Given the description of an element on the screen output the (x, y) to click on. 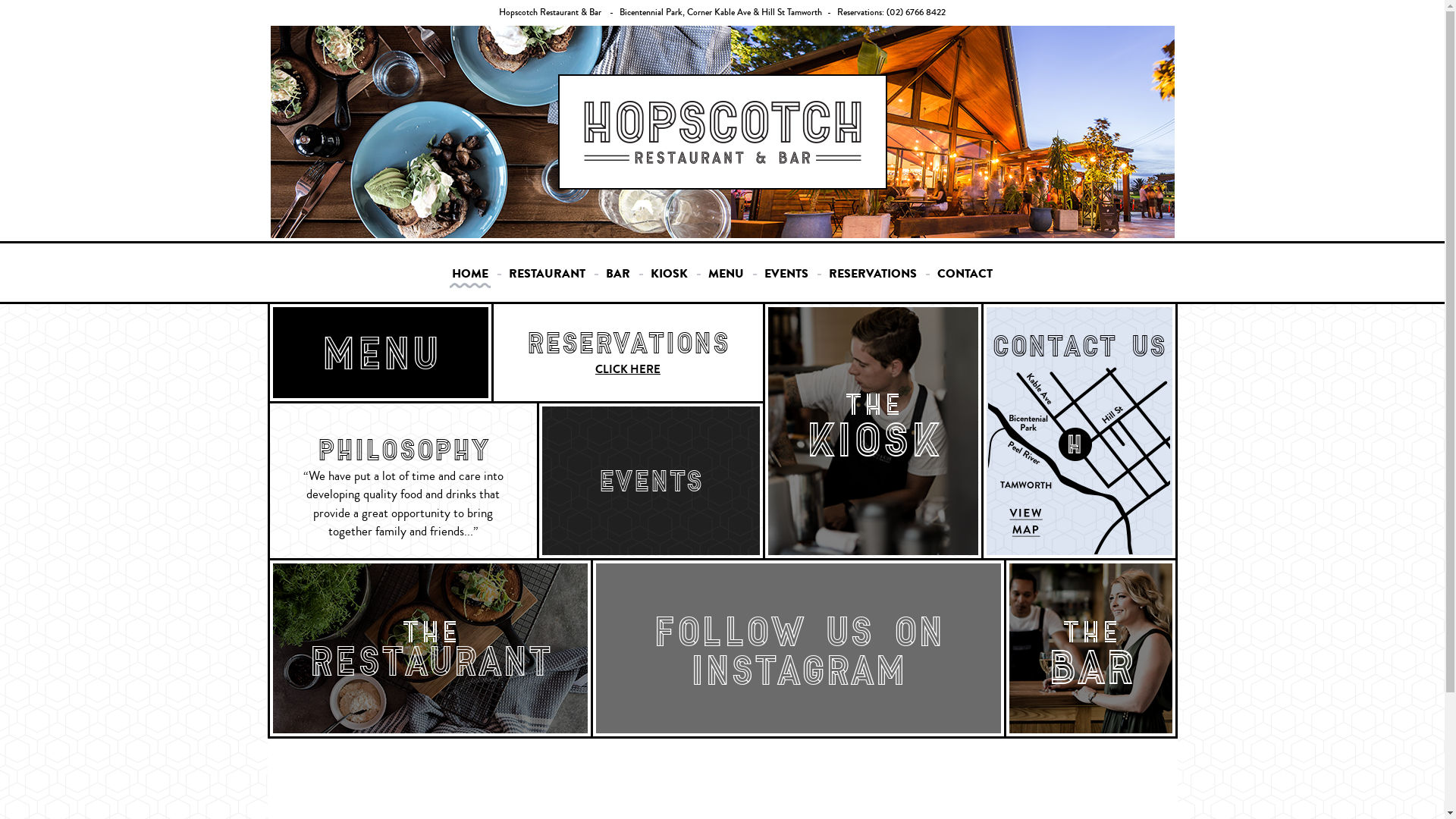
HOME Element type: text (469, 277)
THE
Bar Element type: text (1089, 648)
EVENTS Element type: text (786, 277)
THE
Kiosk Element type: text (872, 431)
RESTAURANT Element type: text (546, 277)
Menu Element type: text (380, 352)
BAR Element type: text (617, 277)
Contact Us Element type: text (1078, 387)
THE
Restaurant Element type: text (430, 648)
RESERVATIONS Element type: text (872, 277)
KIOSK Element type: text (669, 277)
FOLLOW US ON
INSTAGRAM Element type: text (798, 640)
CONTACT Element type: text (964, 277)
Reservations
CLICK HERE Element type: text (627, 352)
MENU Element type: text (726, 277)
EVENTS Element type: text (650, 446)
